Given the description of an element on the screen output the (x, y) to click on. 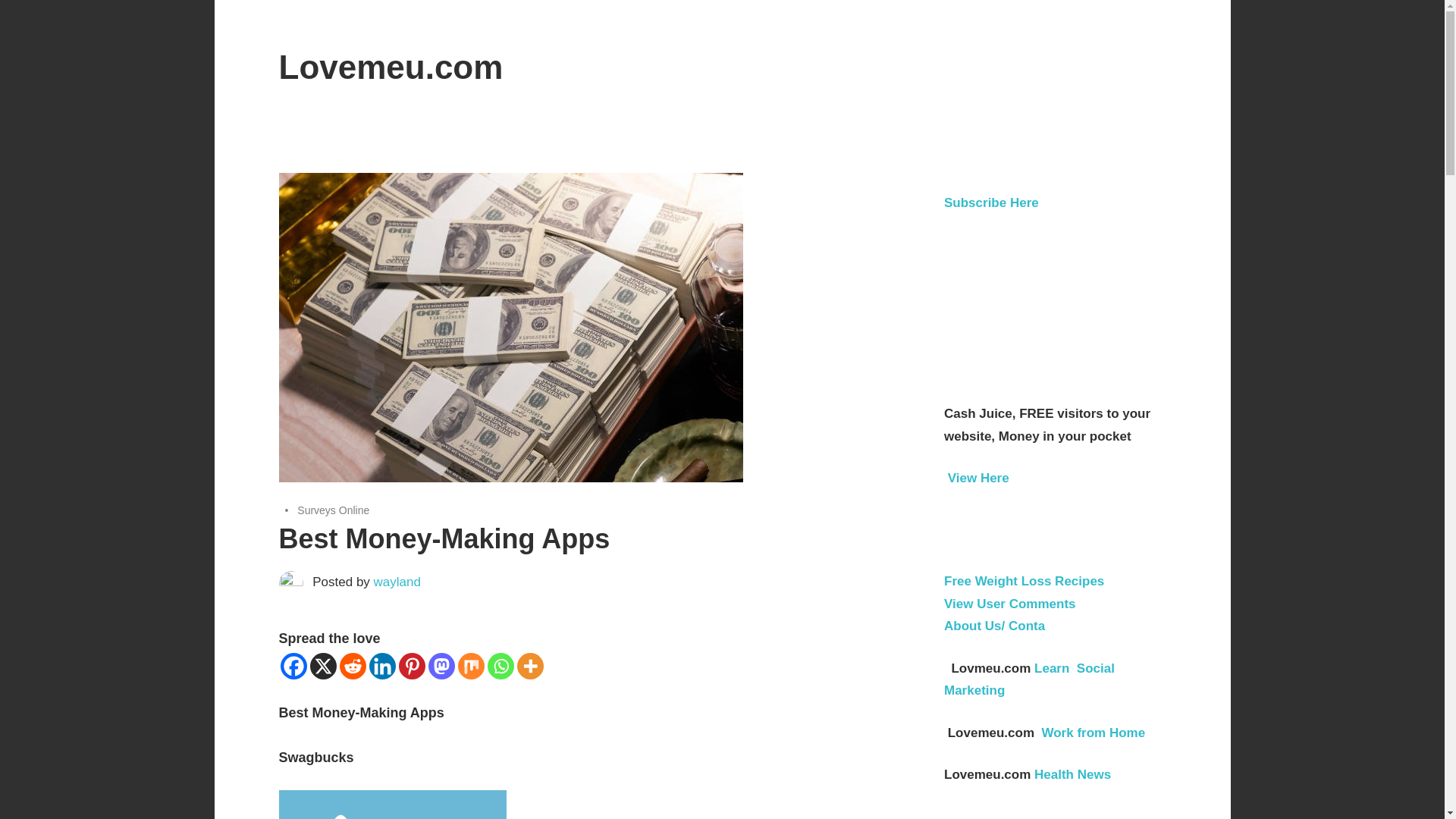
Whatsapp (499, 665)
View all posts by wayland (397, 581)
Work from Home (1092, 732)
View Here (978, 477)
Linkedin (381, 665)
Reddit (352, 665)
Health News (1071, 774)
Mastodon (441, 665)
Subscribe Here (991, 202)
Mix (471, 665)
More (529, 665)
Lovemeu.com (391, 66)
Learn  Social Marketing (1029, 679)
Free Weight Loss Recipes (1023, 581)
